Given the description of an element on the screen output the (x, y) to click on. 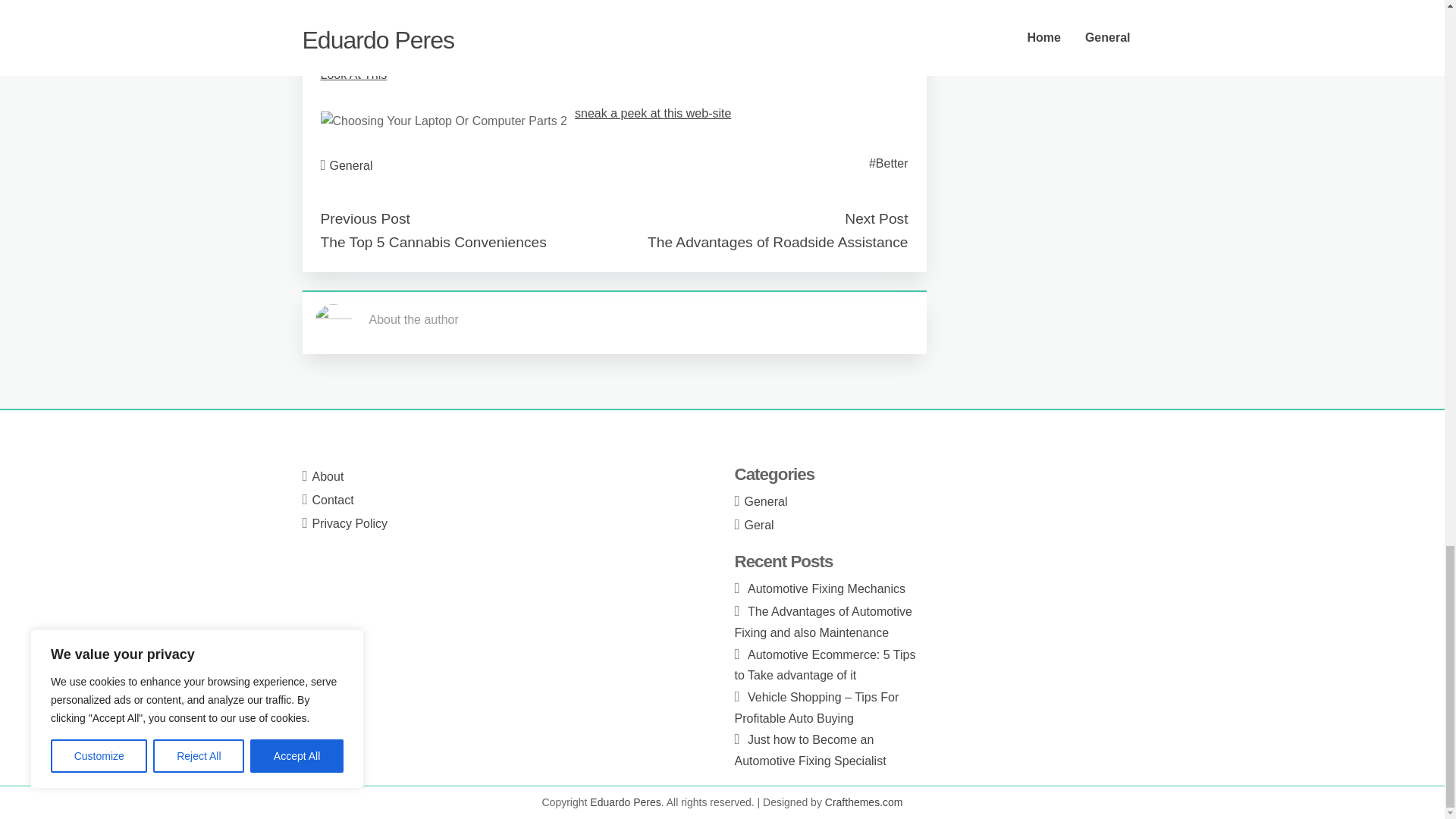
Previous Post (364, 218)
Next Post (875, 218)
General (351, 164)
sneak a peek at this web-site (652, 113)
The Advantages of Roadside Assistance (777, 242)
The Top 5 Cannabis Conveniences (433, 242)
Look At This (353, 74)
